Given the description of an element on the screen output the (x, y) to click on. 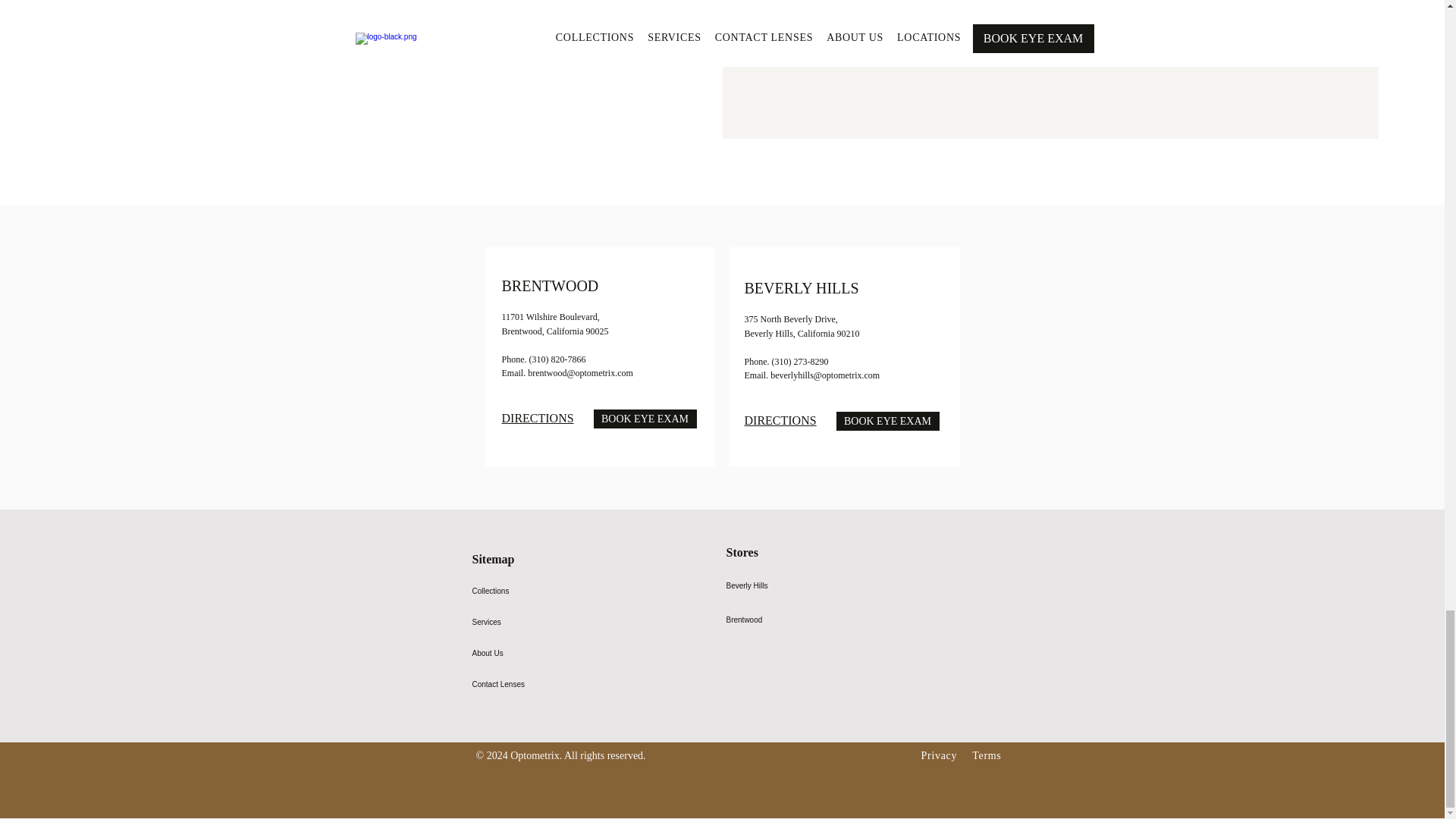
BOOK EYE EXAM (643, 418)
Services (504, 622)
Brentwood (788, 619)
DIRECTIONS (537, 418)
Privacy (939, 755)
Beverly Hills (788, 585)
BOOK EYE EXAM (887, 420)
DIRECTIONS (780, 420)
Terms (986, 755)
Contact Lenses (504, 684)
